Given the description of an element on the screen output the (x, y) to click on. 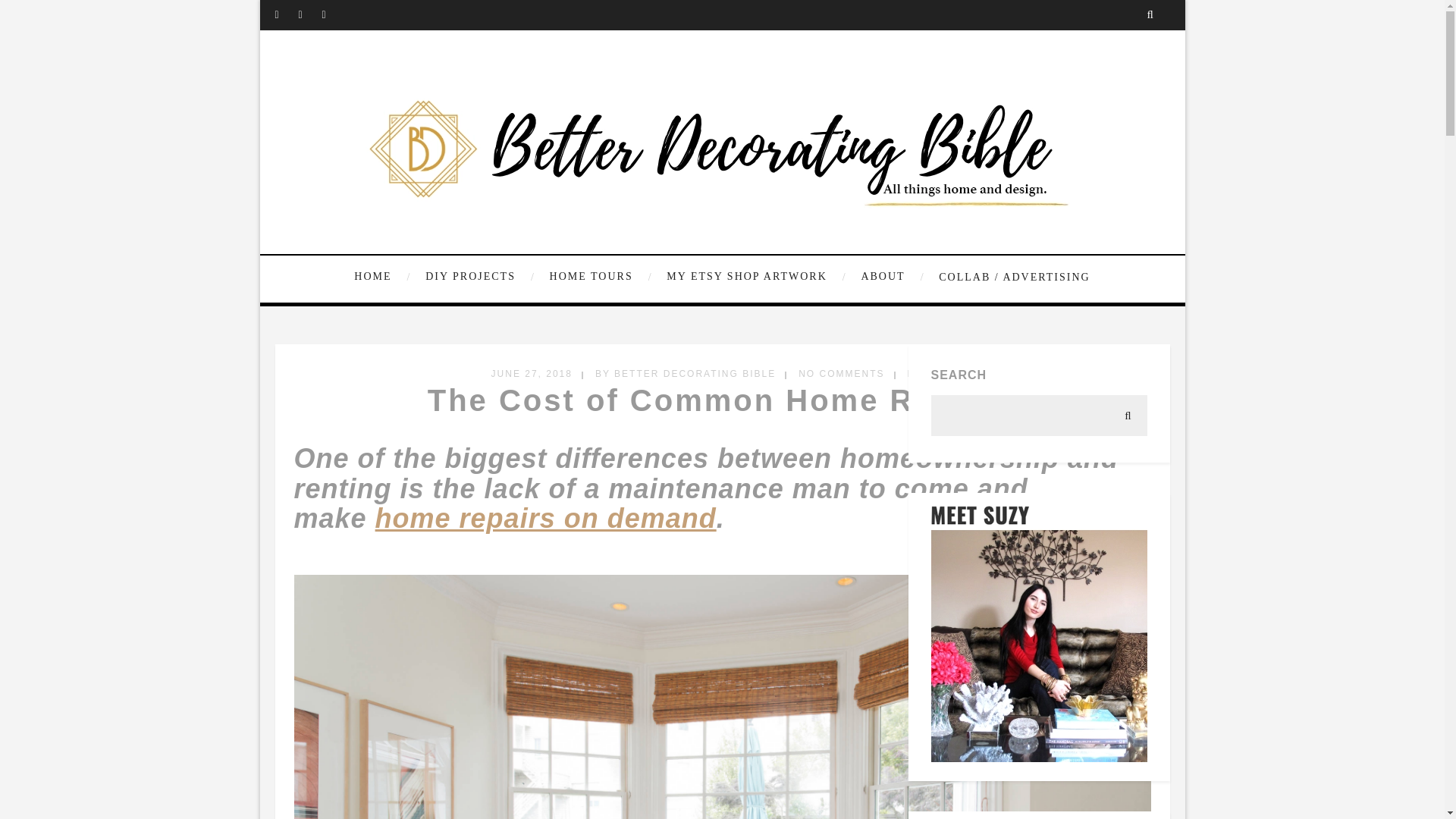
HOME TOURS (598, 276)
BY BETTER DECORATING BIBLE (685, 373)
JUNE 27, 2018 (532, 373)
HOME (383, 276)
home repairs on demand (545, 517)
MY ETSY SHOP ARTWORK (753, 276)
NO COMMENTS (840, 373)
DIY PROJECTS (477, 276)
